Given the description of an element on the screen output the (x, y) to click on. 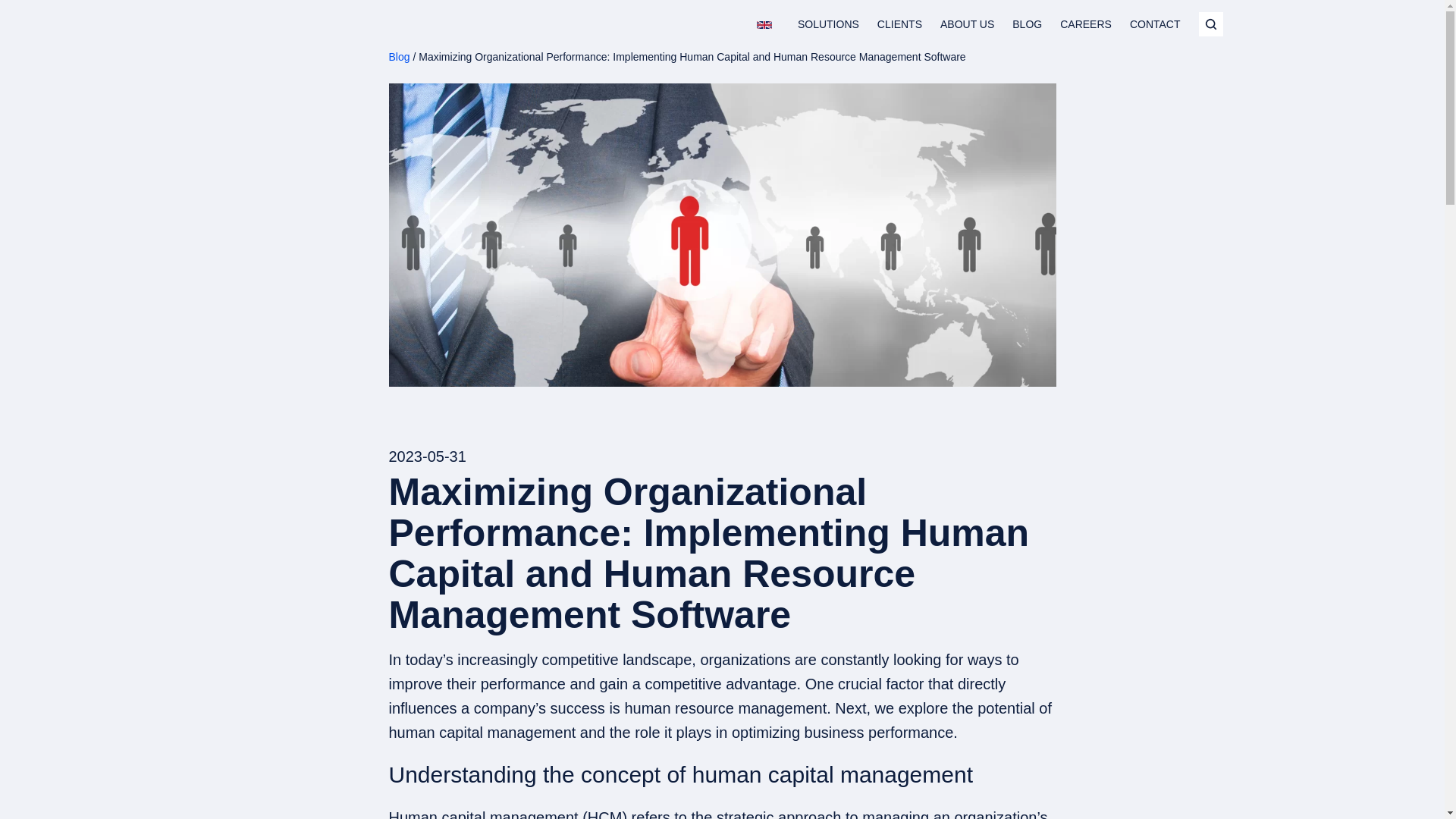
ABOUT US (967, 24)
CONTACT (1154, 24)
SOLUTIONS (828, 24)
Blog (398, 56)
CLIENTS (899, 24)
BLOG (1026, 24)
CAREERS (1085, 24)
